Given the description of an element on the screen output the (x, y) to click on. 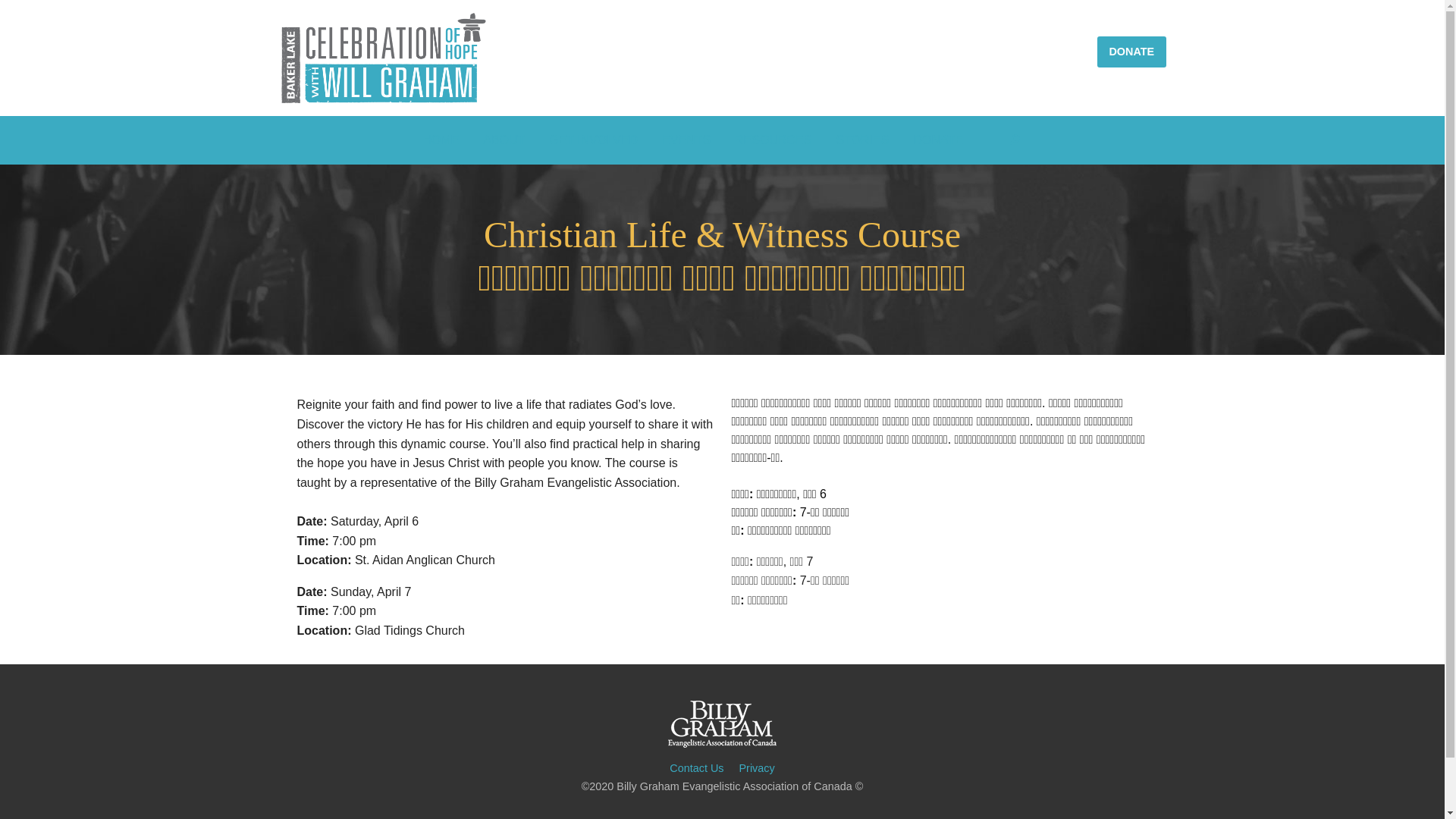
DONATE Element type: text (1131, 51)
Privacy Element type: text (756, 768)
Contact Us Element type: text (696, 768)
DONATE Element type: text (937, 139)
ABOUT Element type: text (503, 139)
RESOURCES Element type: text (772, 139)
GET INVOLVED Element type: text (592, 139)
Baker Lake Celebration of Hope Element type: hover (383, 56)
Search Element type: text (827, 191)
HOME Element type: text (440, 139)
EVENTS Element type: text (685, 139)
STORIES Element type: text (861, 139)
